Given the description of an element on the screen output the (x, y) to click on. 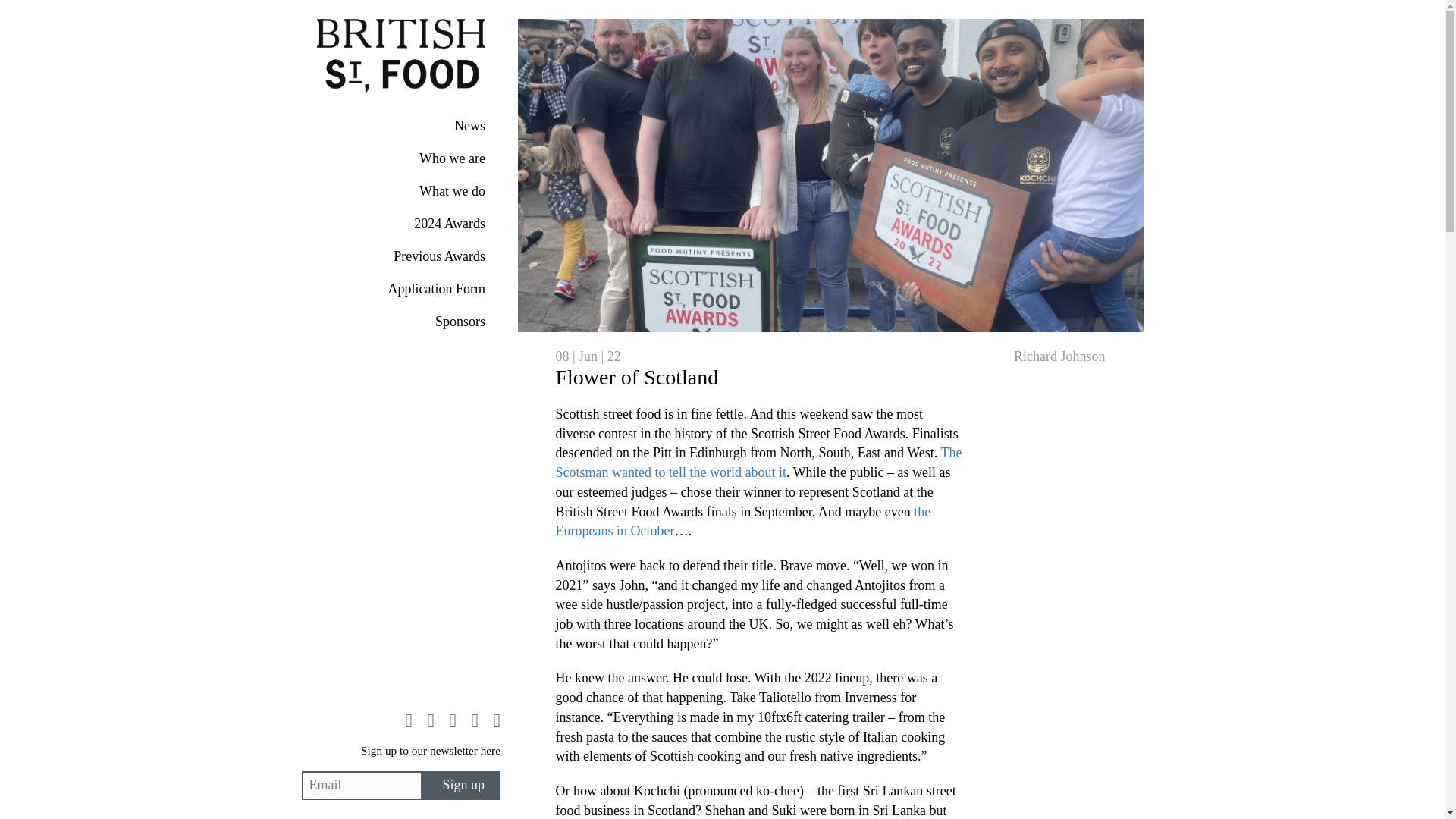
2024 Awards (400, 223)
Sign up (459, 785)
Who we are (400, 158)
News (400, 125)
Sponsors (400, 321)
The Scotsman wanted to tell the world about it (757, 605)
What we do (400, 190)
Application Form (400, 288)
the Europeans in October (742, 628)
Previous Awards (400, 256)
